Given the description of an element on the screen output the (x, y) to click on. 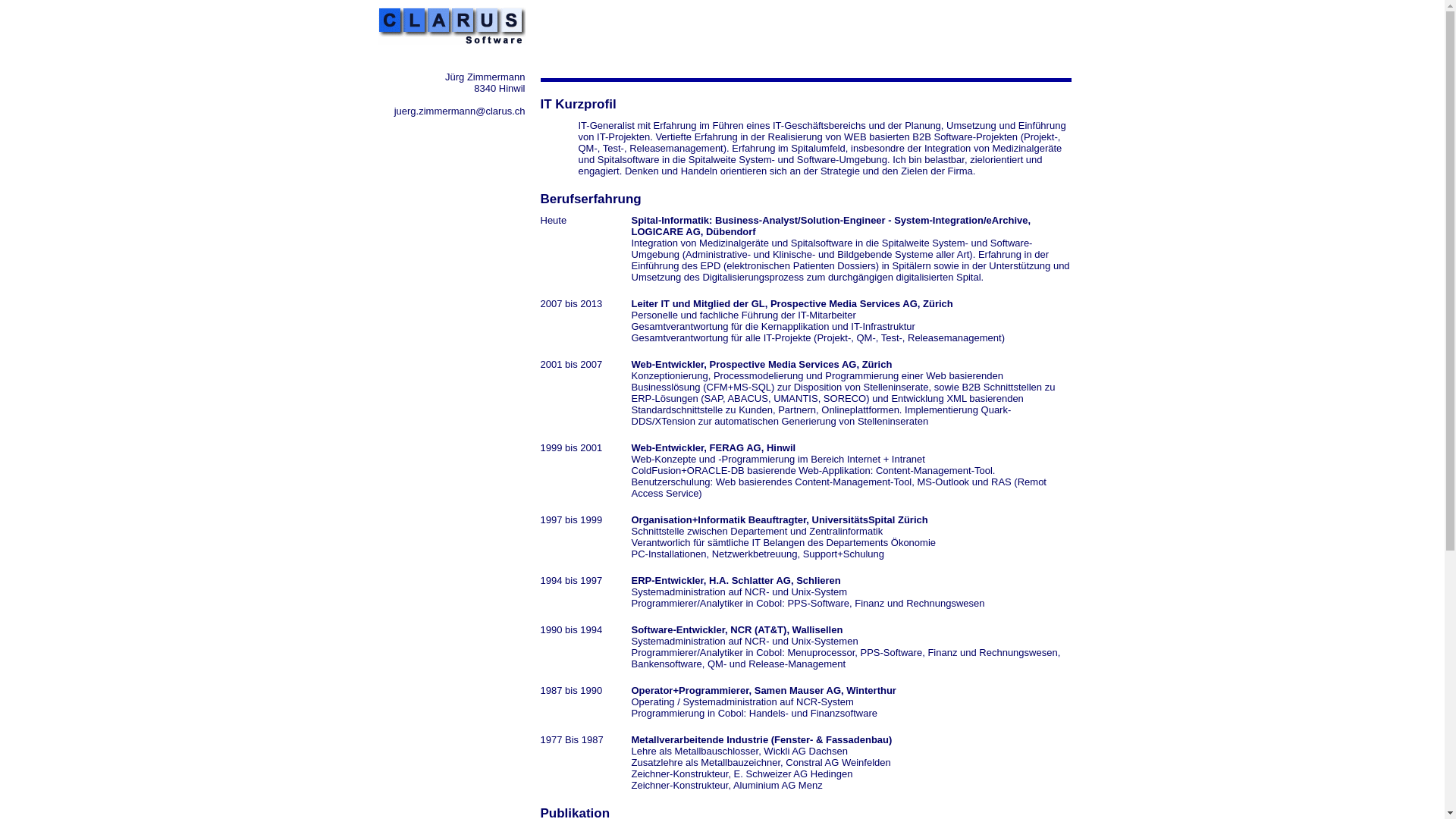
juerg.zimmermann@clarus.ch Element type: text (459, 110)
